Given the description of an element on the screen output the (x, y) to click on. 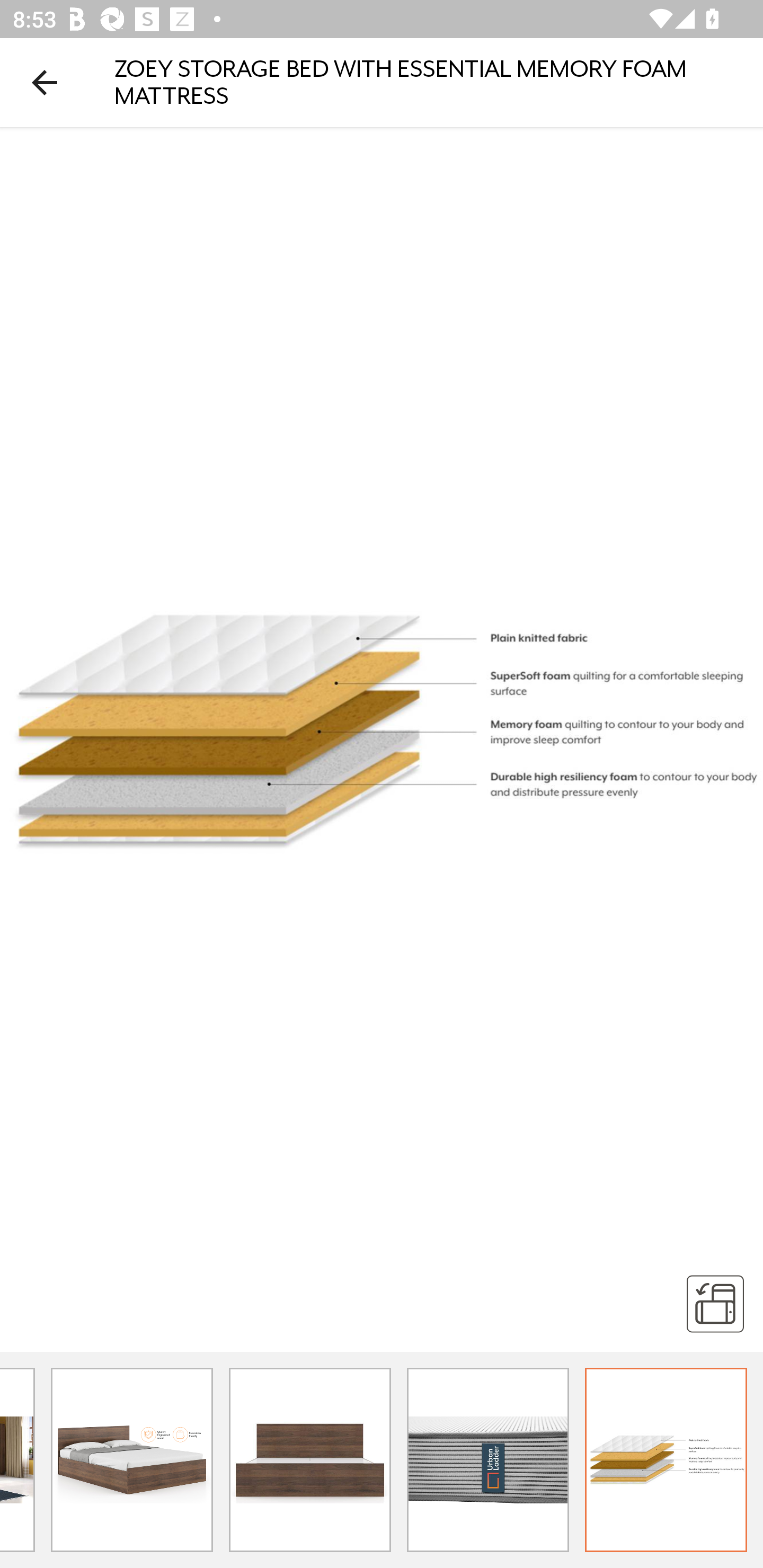
Navigate up (44, 82)
 (715, 1302)
